Given the description of an element on the screen output the (x, y) to click on. 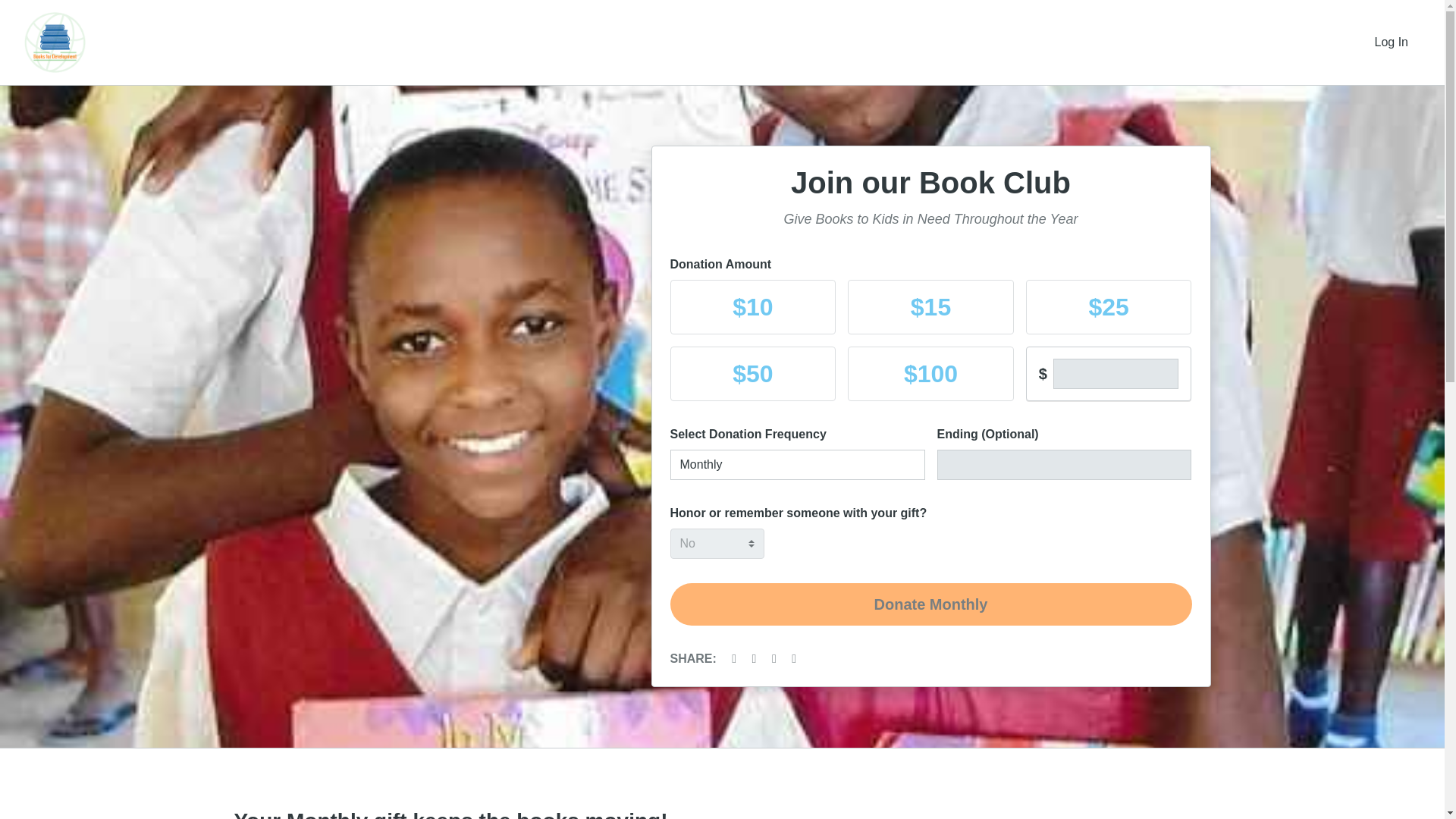
Custom Donation Amount (1115, 373)
Log In (1391, 42)
Donate Monthly (930, 604)
